Given the description of an element on the screen output the (x, y) to click on. 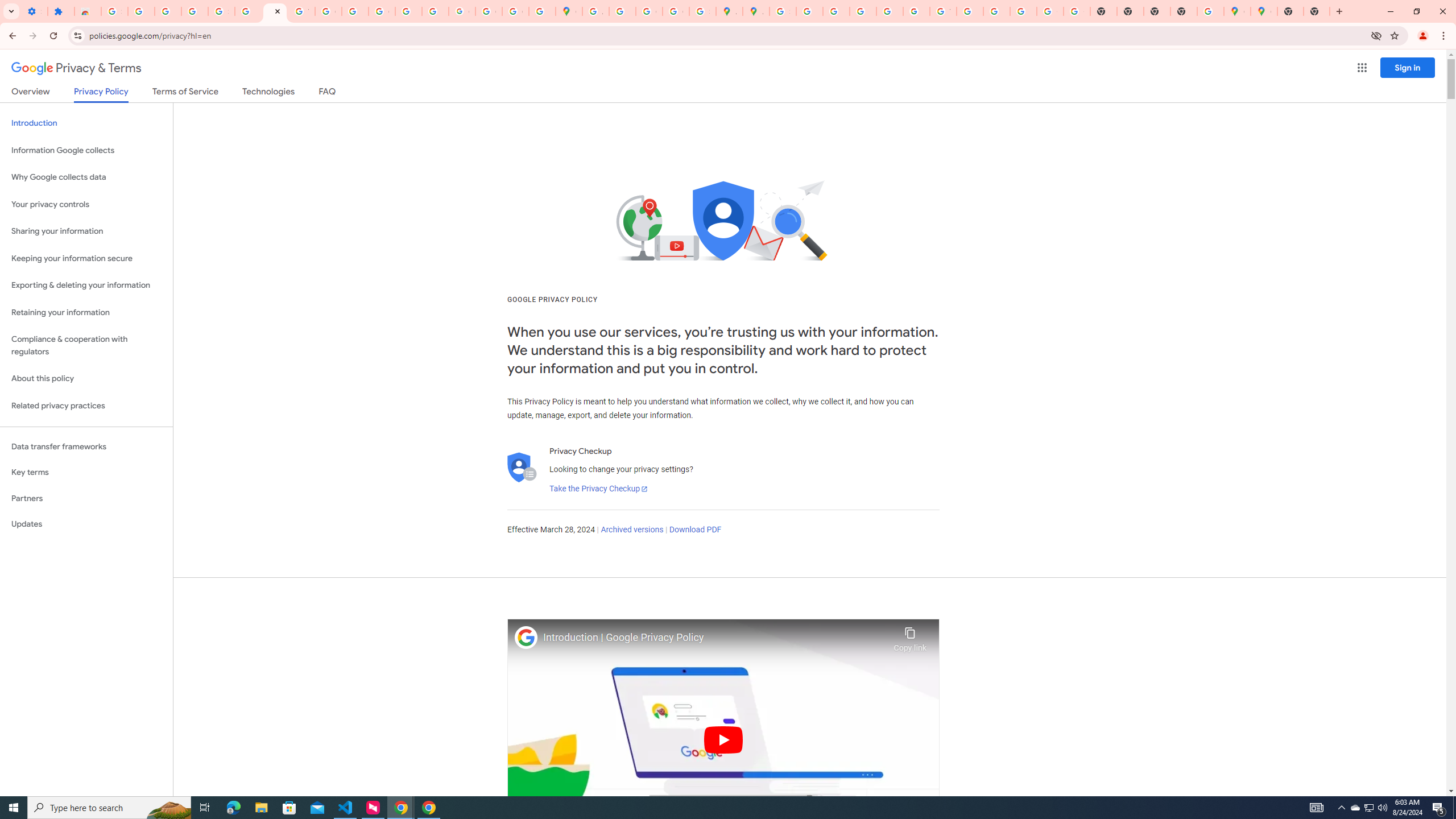
New Tab (1183, 11)
Sign in - Google Accounts (221, 11)
Copy link (909, 636)
Sign in - Google Accounts (782, 11)
Take the Privacy Checkup (597, 488)
Google Maps (569, 11)
Exporting & deleting your information (86, 284)
